Given the description of an element on the screen output the (x, y) to click on. 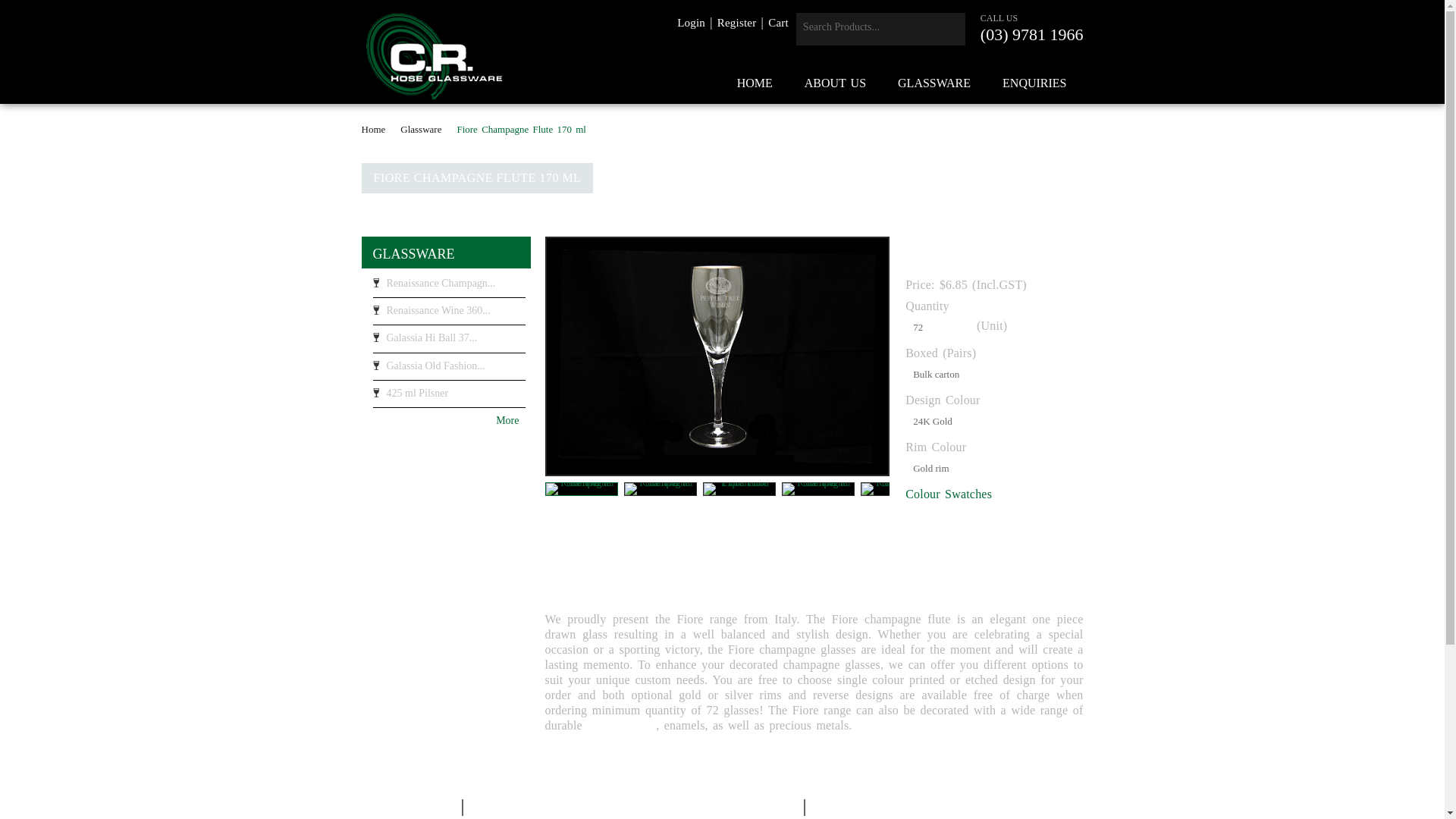
HOME Element type: text (754, 83)
ENQUIRIES Element type: text (1034, 83)
Cart Element type: text (778, 22)
CR Hose Glassware Element type: hover (433, 56)
search for products Element type: hover (865, 27)
GLASSWARE Element type: text (414, 253)
Search Element type: text (949, 28)
Renaissance Wine 360... Element type: text (449, 314)
Fiore Champagne Flute 170 ml Element type: hover (817, 489)
Add To Order Element type: hover (976, 528)
ABOUT US Element type: text (835, 83)
Search Element type: hover (949, 28)
Galassia Old Fashion... Element type: text (449, 369)
Galassia Hi Ball 37... Element type: text (449, 341)
More Element type: text (443, 420)
Renaissance Champagn... Element type: text (449, 287)
(03) 9781 1966 Element type: text (1031, 34)
glass etching Element type: text (620, 724)
Colour Swatches Element type: text (948, 493)
Register Element type: text (736, 22)
Fiore Champagne Flute 170 ml Element type: hover (896, 489)
Login Element type: text (691, 22)
Fiore Champagne Flute 170 ml Element type: hover (660, 489)
425 ml Pilsner Element type: text (449, 396)
Glassware Element type: text (425, 129)
GLASSWARE Element type: text (933, 83)
Home Element type: text (377, 129)
Fiore Champagne Flute 170 ml Element type: hover (581, 489)
Fiore Flute Explanation Element type: hover (739, 489)
